Given the description of an element on the screen output the (x, y) to click on. 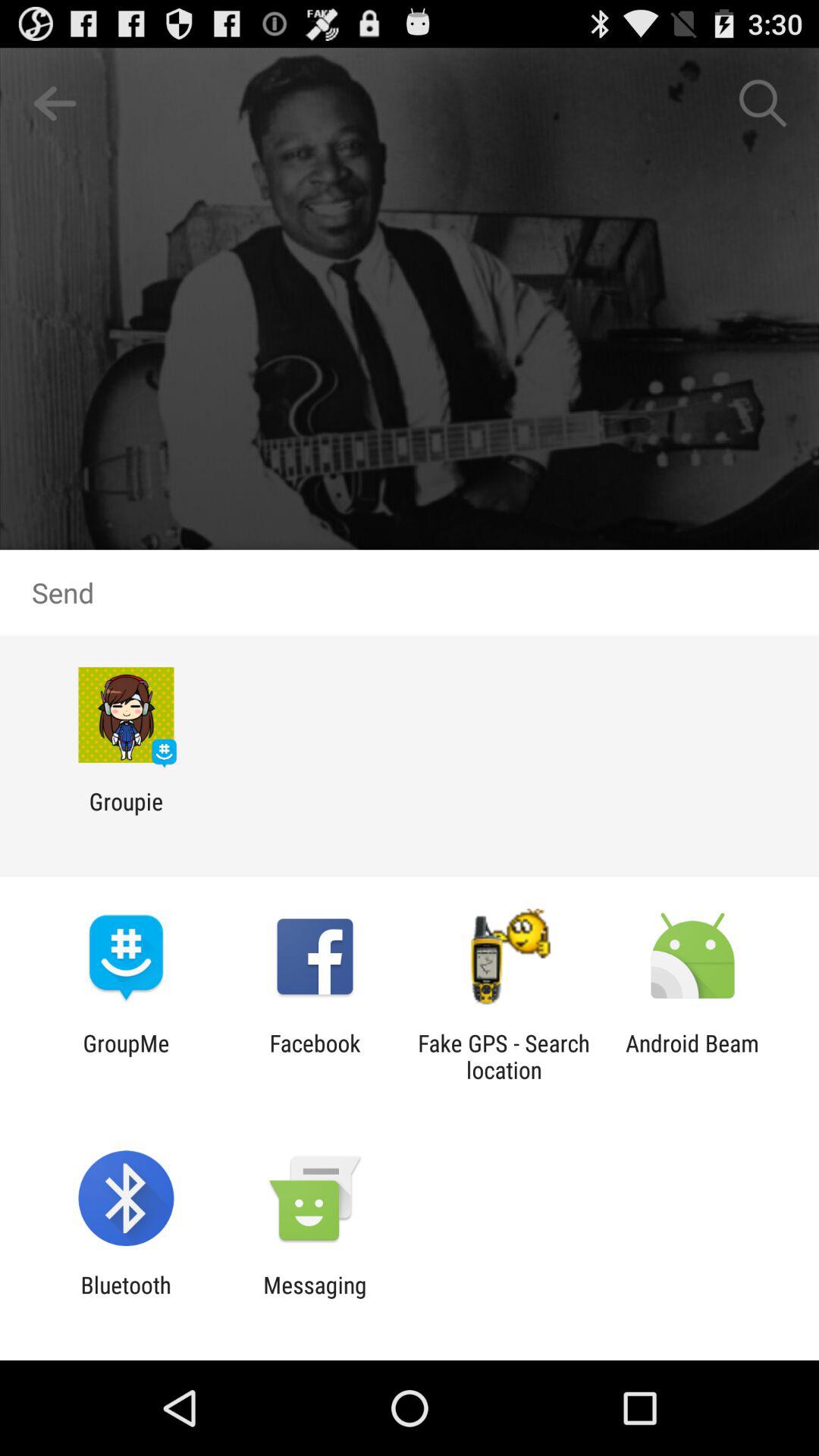
tap item to the right of facebook icon (503, 1056)
